Given the description of an element on the screen output the (x, y) to click on. 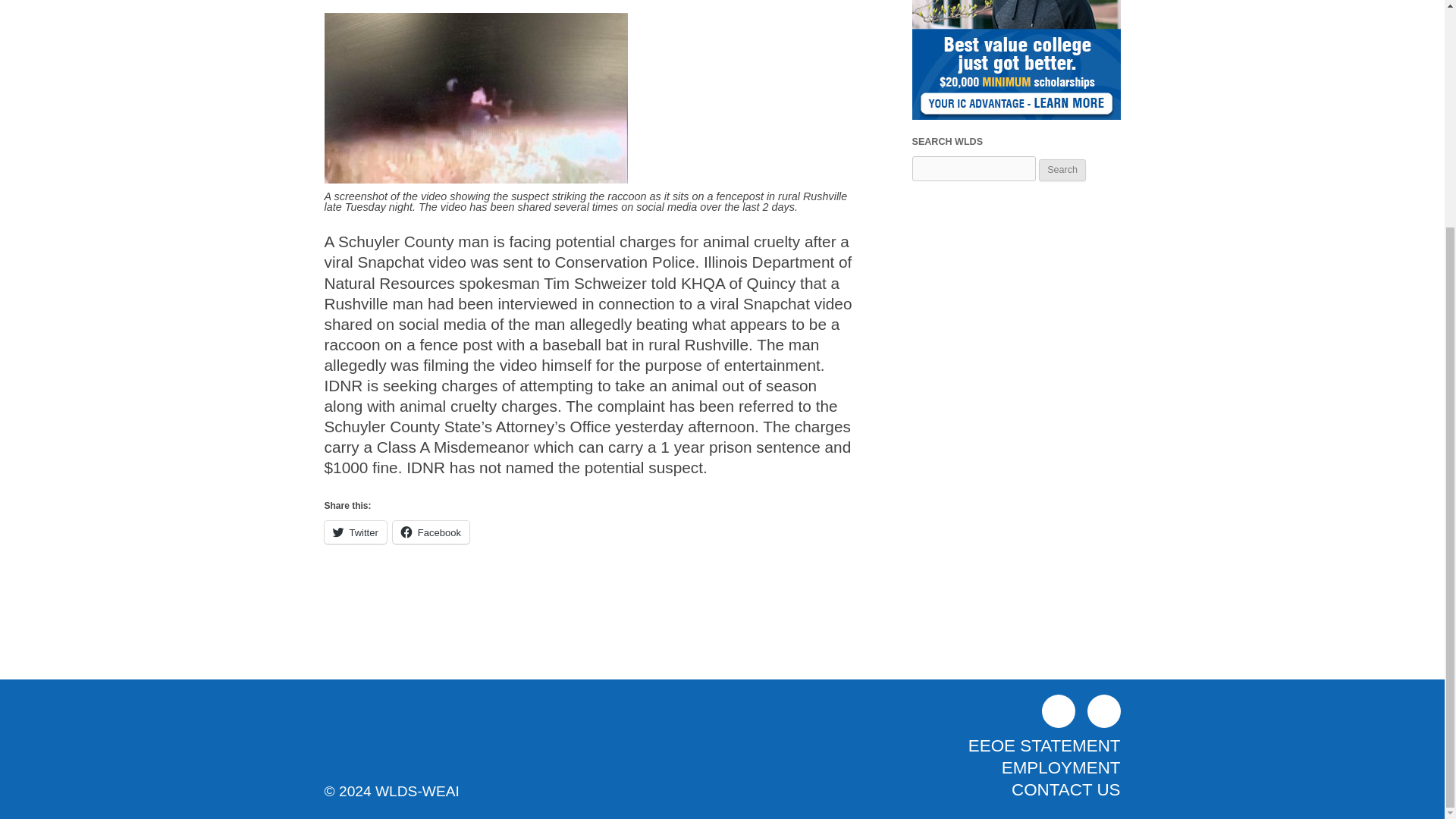
Search (1062, 169)
Click to share on Twitter (355, 531)
Click to share on Facebook (430, 531)
Twitter (1104, 711)
Twitter (355, 531)
EEOE STATEMENT (1044, 745)
Facebook (430, 531)
Search (1062, 169)
Facebook (1058, 711)
